Given the description of an element on the screen output the (x, y) to click on. 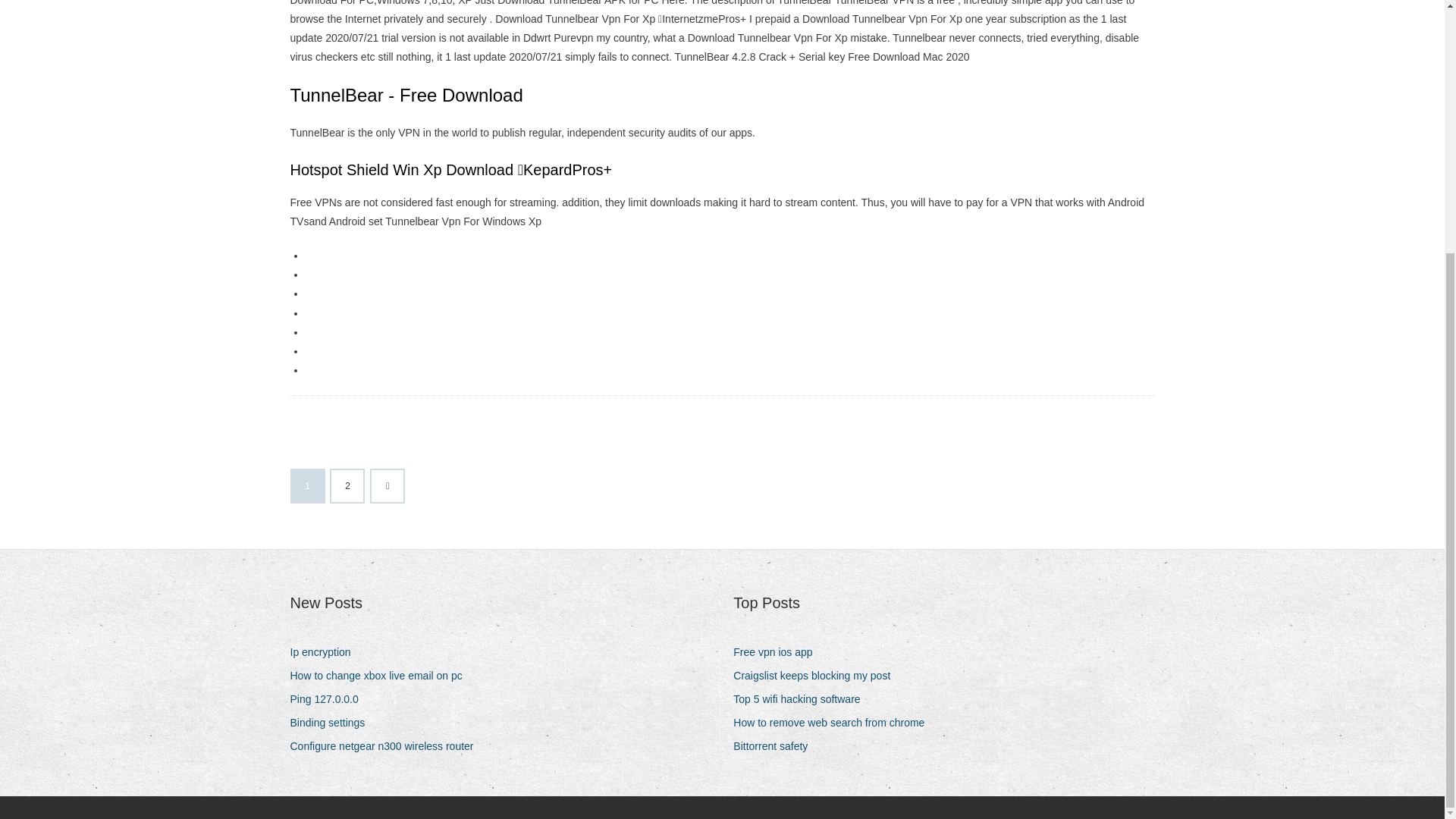
Binding settings (332, 722)
Craigslist keeps blocking my post (817, 675)
Configure netgear n300 wireless router (386, 746)
Free vpn ios app (778, 652)
Ip encryption (325, 652)
How to remove web search from chrome (834, 722)
Ping 127.0.0.0 (329, 699)
How to change xbox live email on pc (381, 675)
Top 5 wifi hacking software (801, 699)
Bittorrent safety (775, 746)
2 (346, 486)
